Given the description of an element on the screen output the (x, y) to click on. 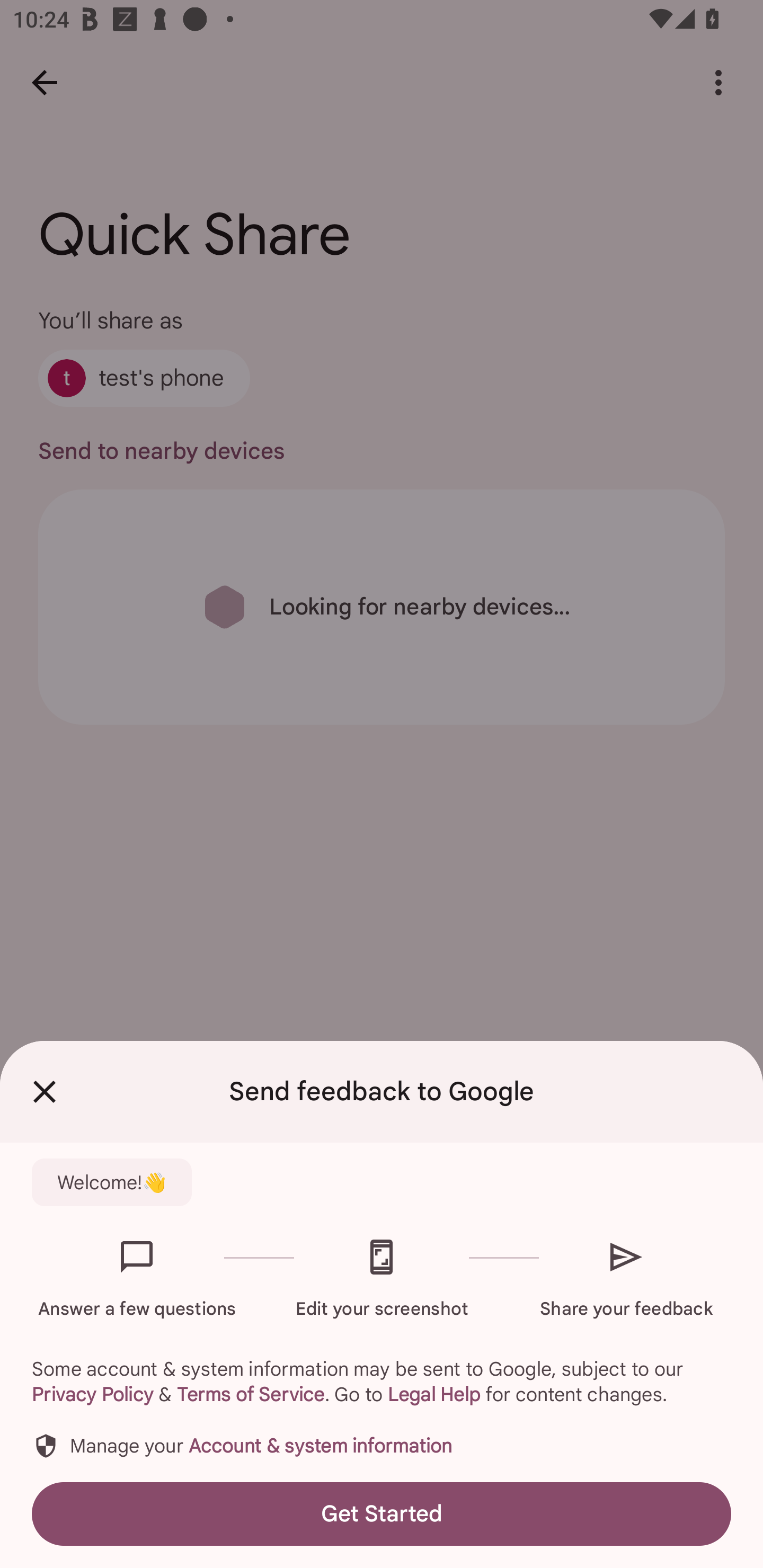
Close Feedback (44, 1091)
Get Started (381, 1513)
